Given the description of an element on the screen output the (x, y) to click on. 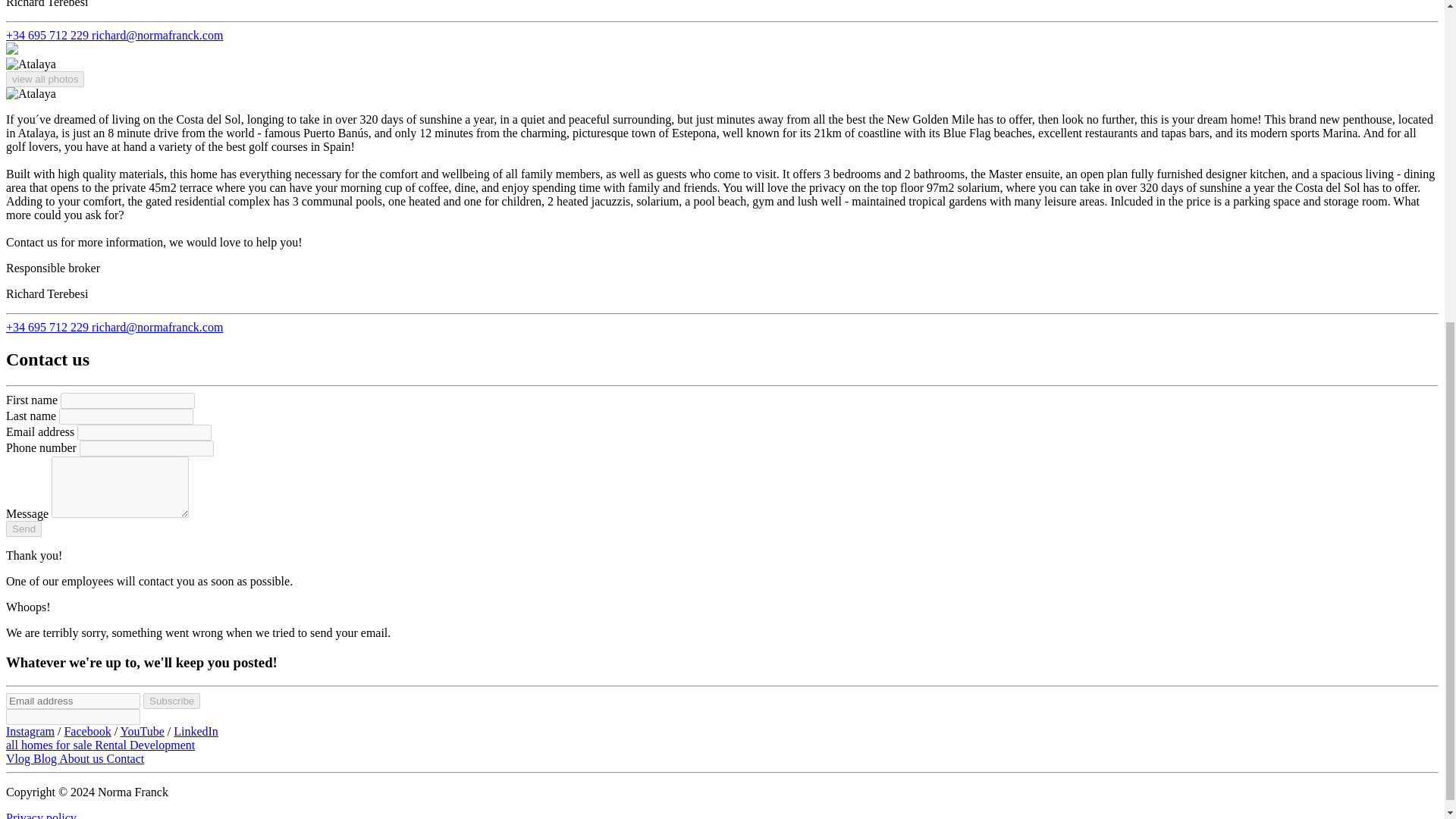
Blog (46, 758)
Vlog (19, 758)
Contact (125, 758)
Rental (111, 744)
view all photos (44, 78)
LinkedIn (195, 730)
YouTube (141, 730)
Development (162, 744)
Send (23, 528)
Subscribe (171, 700)
all homes for sale (49, 744)
Facebook (87, 730)
Instagram (30, 730)
About us (82, 758)
